Given the description of an element on the screen output the (x, y) to click on. 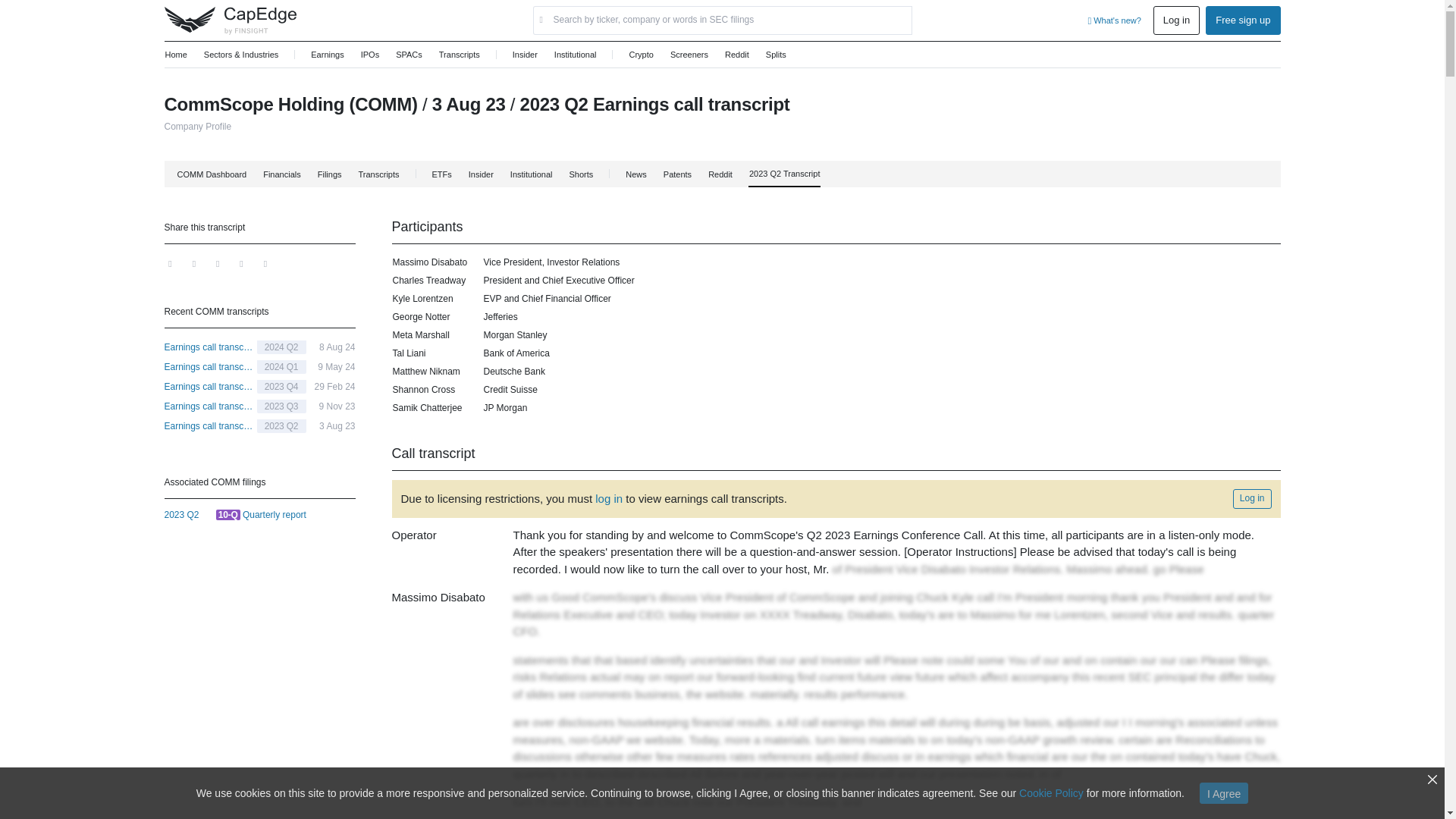
Reddit (736, 54)
Crypto (640, 54)
Insider (525, 54)
Transcripts (459, 54)
SPACs (408, 54)
Filings (329, 173)
Screeners (689, 54)
Financials (281, 173)
Institutional (574, 54)
